Given the description of an element on the screen output the (x, y) to click on. 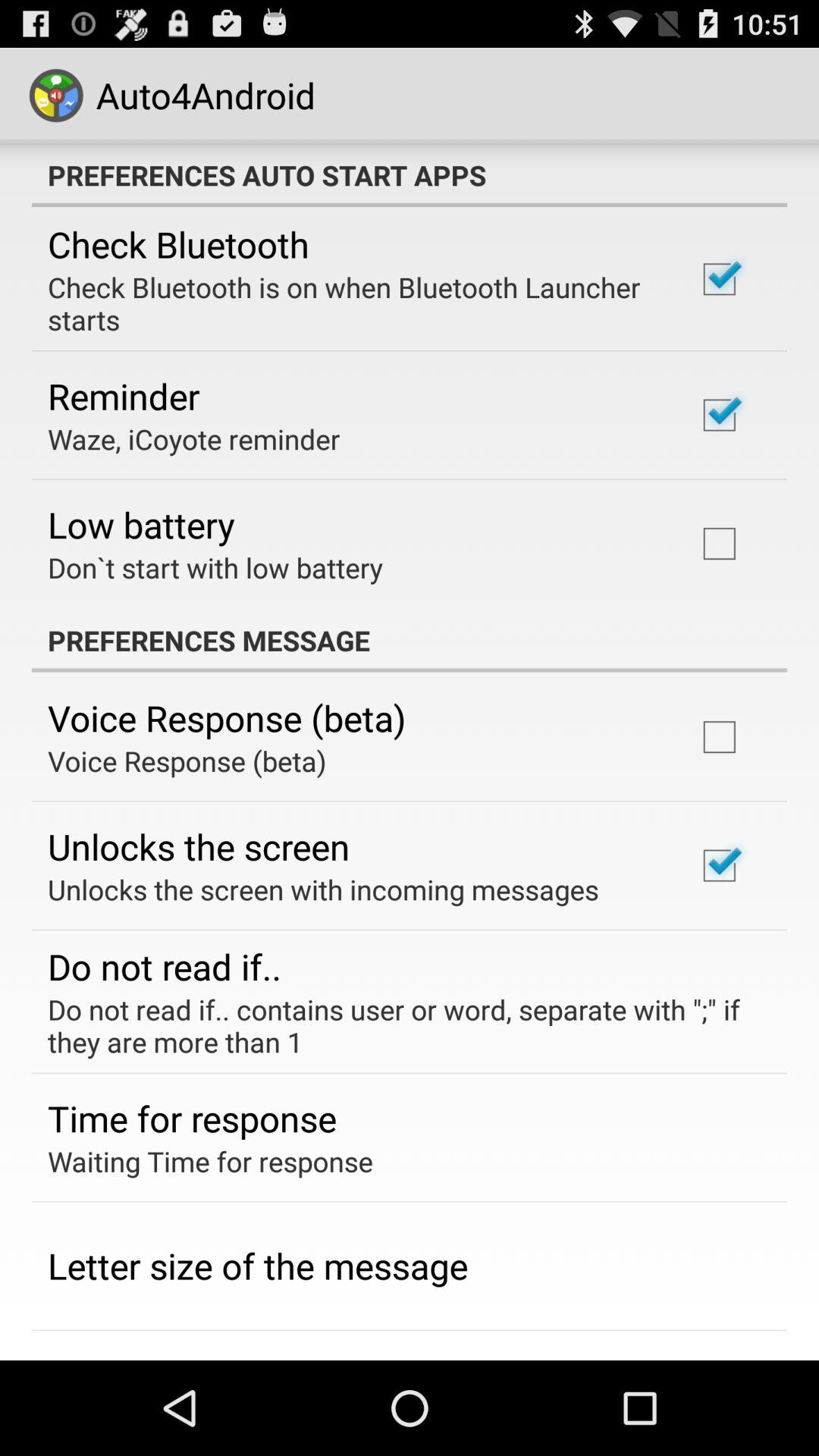
choose icon above preferences message (214, 567)
